Given the description of an element on the screen output the (x, y) to click on. 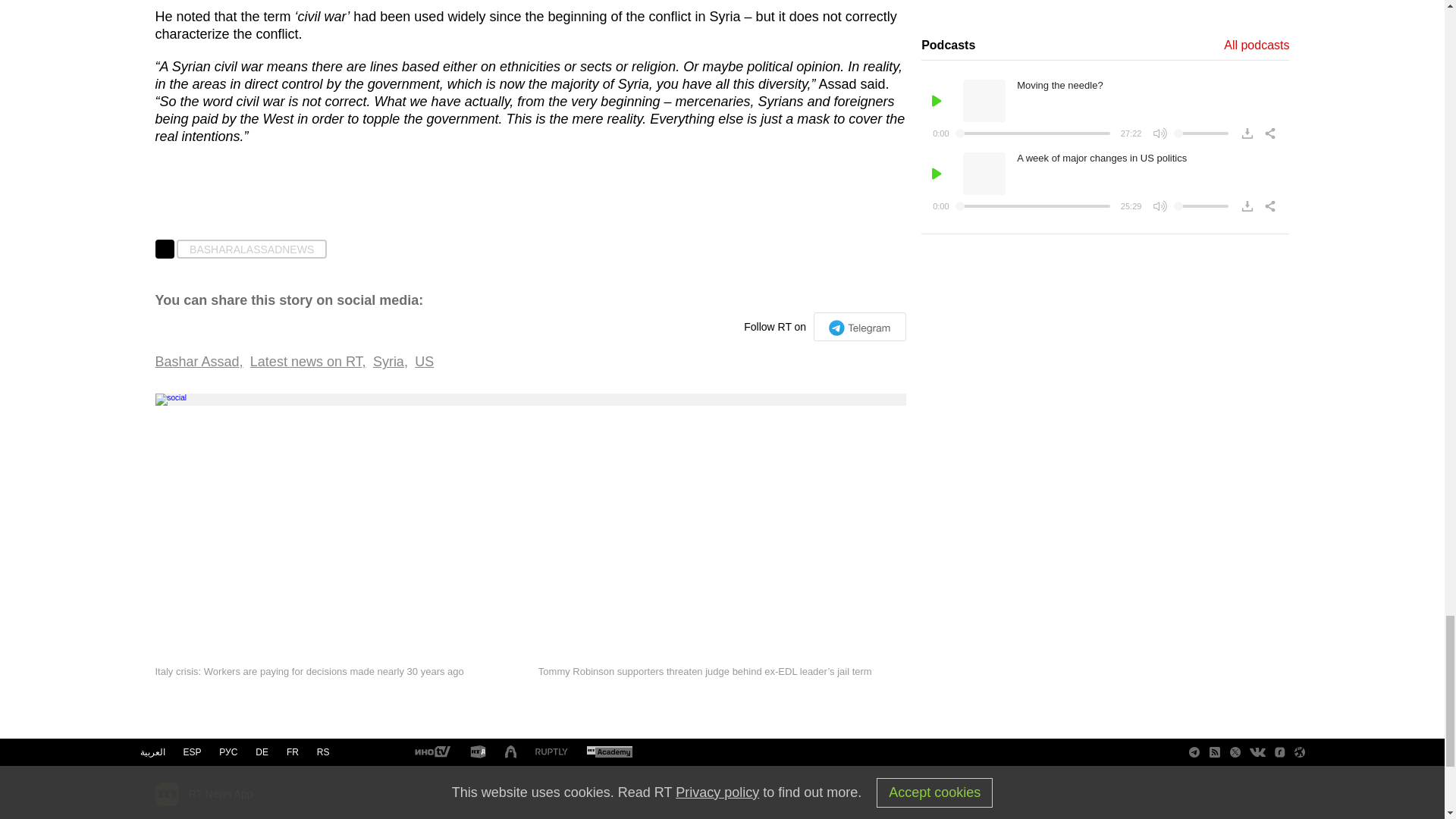
RT  (431, 752)
RT  (551, 752)
RT  (478, 752)
RT  (608, 752)
